Given the description of an element on the screen output the (x, y) to click on. 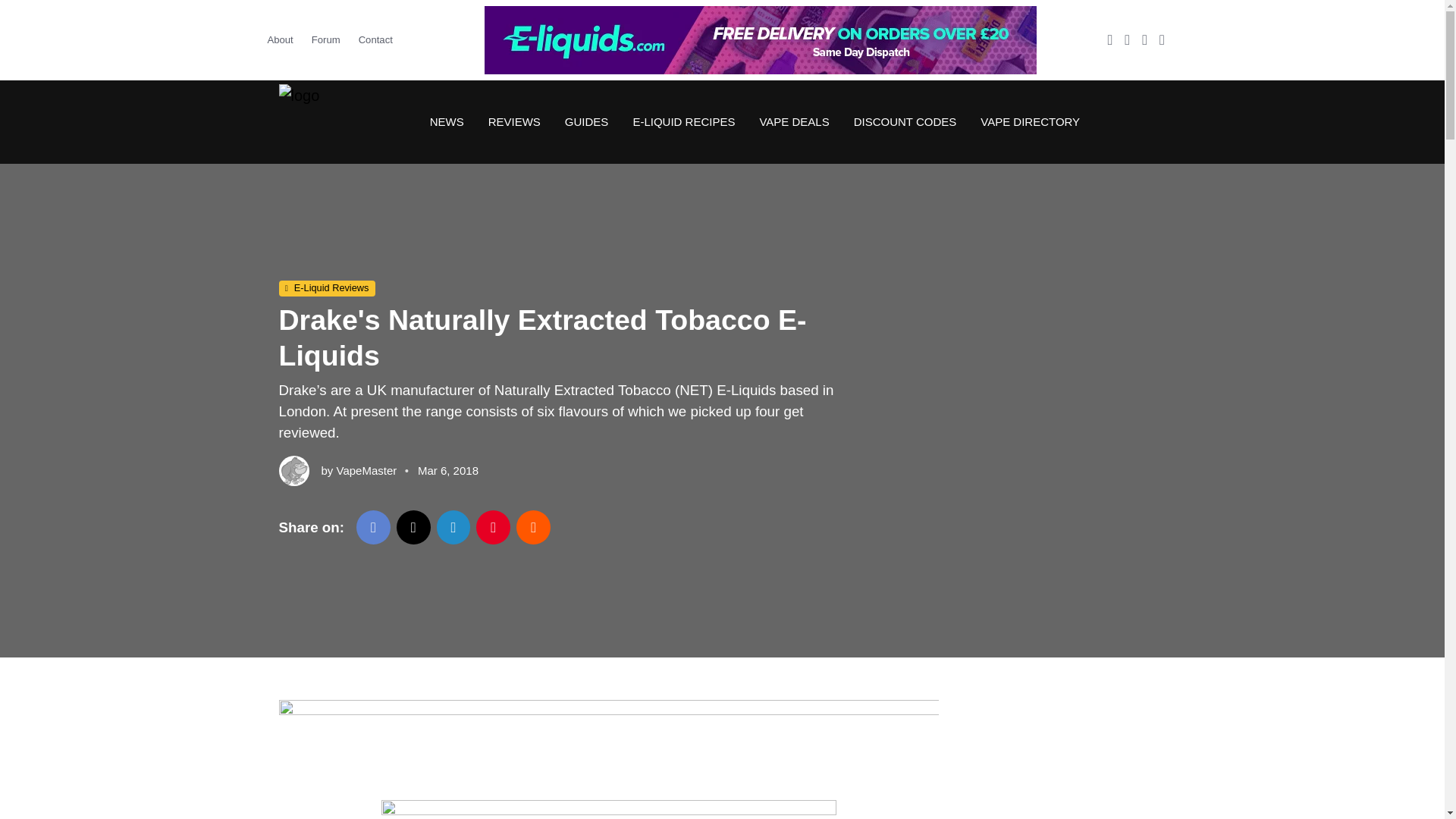
E-LIQUID RECIPES (683, 121)
VapeMaster (366, 470)
E-Liquid Reviews (327, 288)
NEWS (446, 121)
Contact (375, 39)
REVIEWS (514, 121)
DISCOUNT CODES (905, 121)
VAPE DIRECTORY (1024, 121)
VAPE DEALS (793, 121)
Forum (325, 39)
About (283, 39)
GUIDES (587, 121)
